Given the description of an element on the screen output the (x, y) to click on. 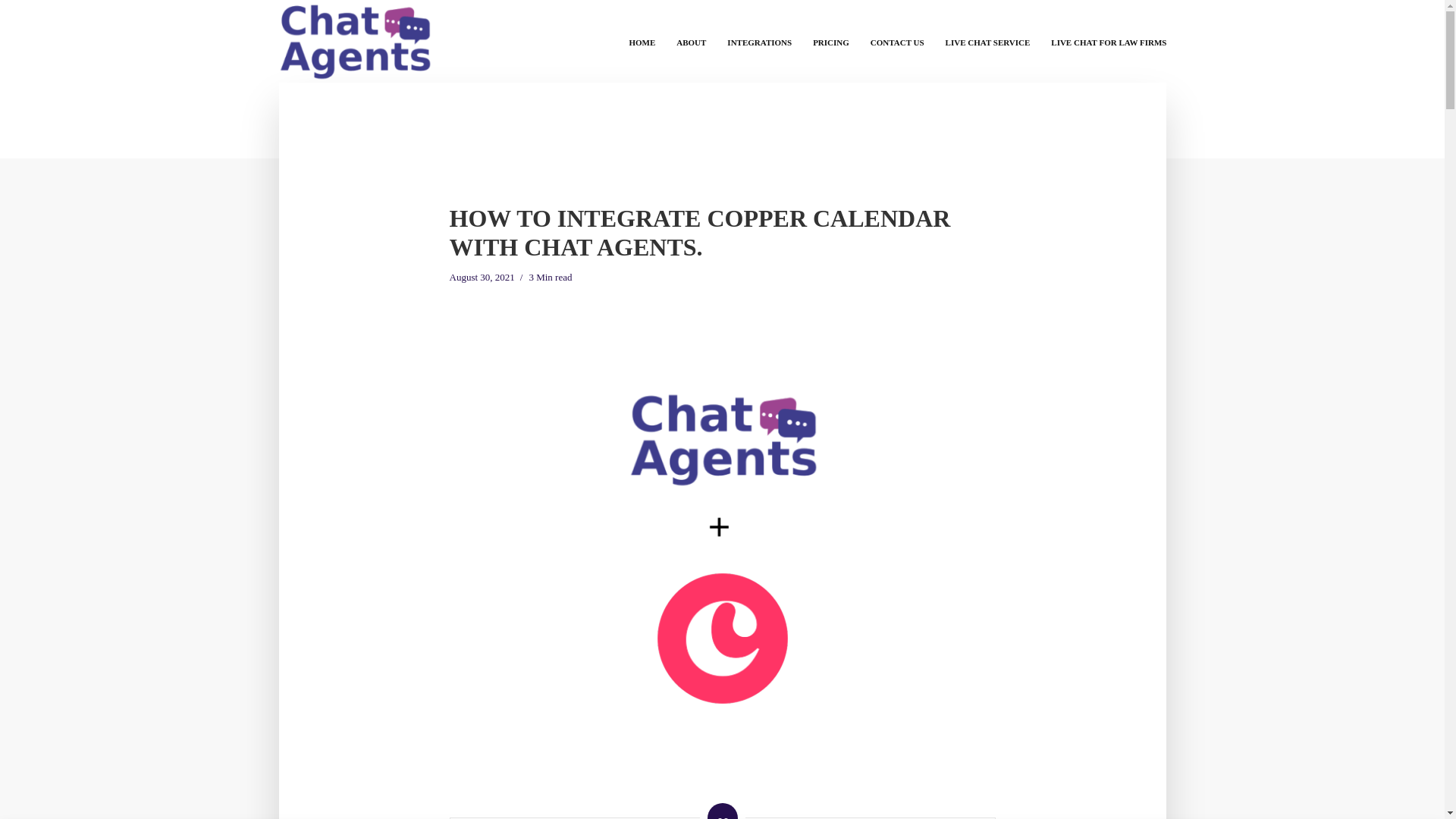
HOME (641, 41)
LIVE CHAT FOR LAW FIRMS (1108, 41)
CONTACT US (897, 41)
PRICING (831, 41)
ABOUT (690, 41)
LIVE CHAT SERVICE (987, 41)
INTEGRATIONS (759, 41)
